Given the description of an element on the screen output the (x, y) to click on. 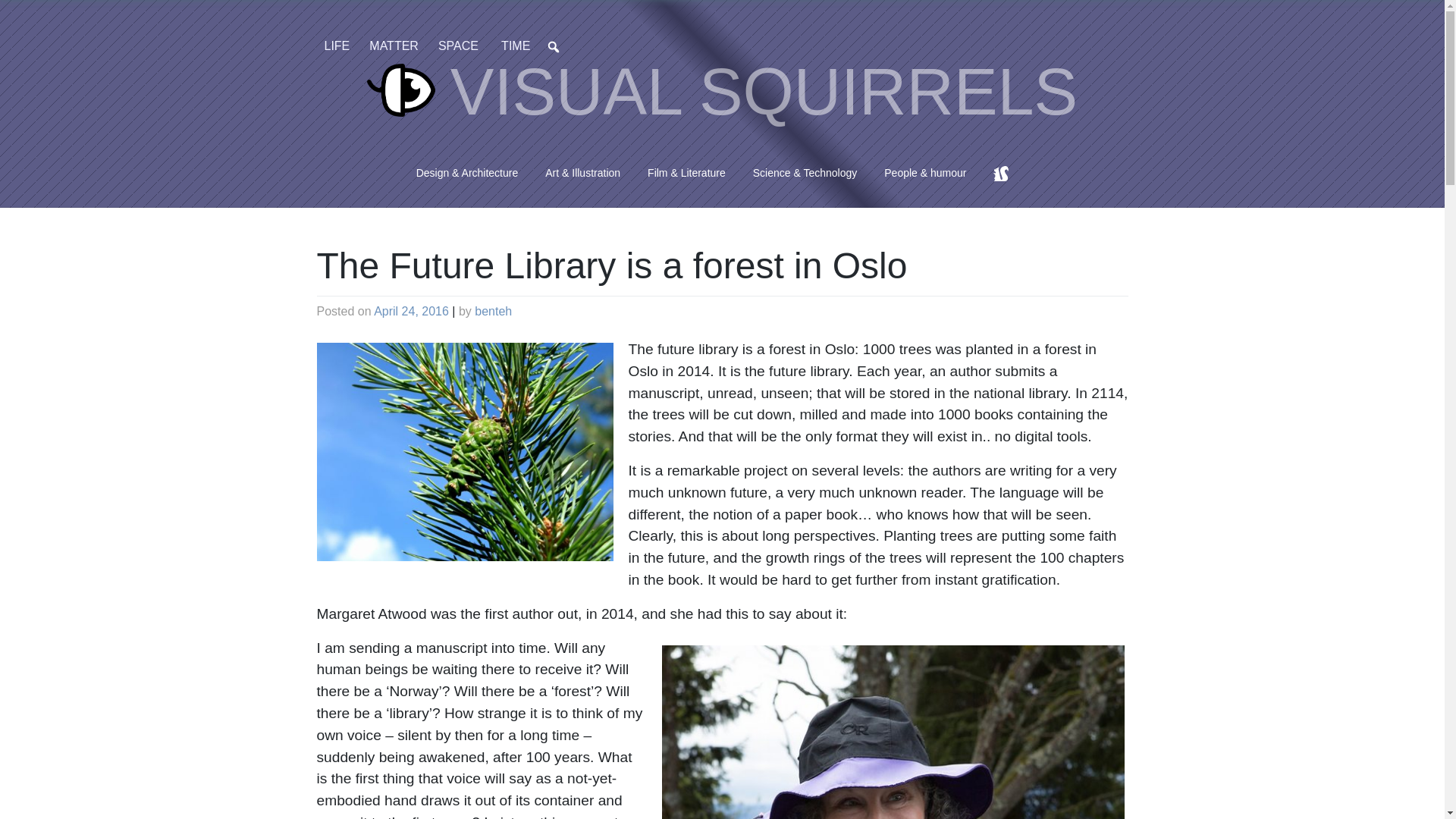
VisSq (721, 97)
LIFE (339, 46)
MATTER (395, 46)
